Given the description of an element on the screen output the (x, y) to click on. 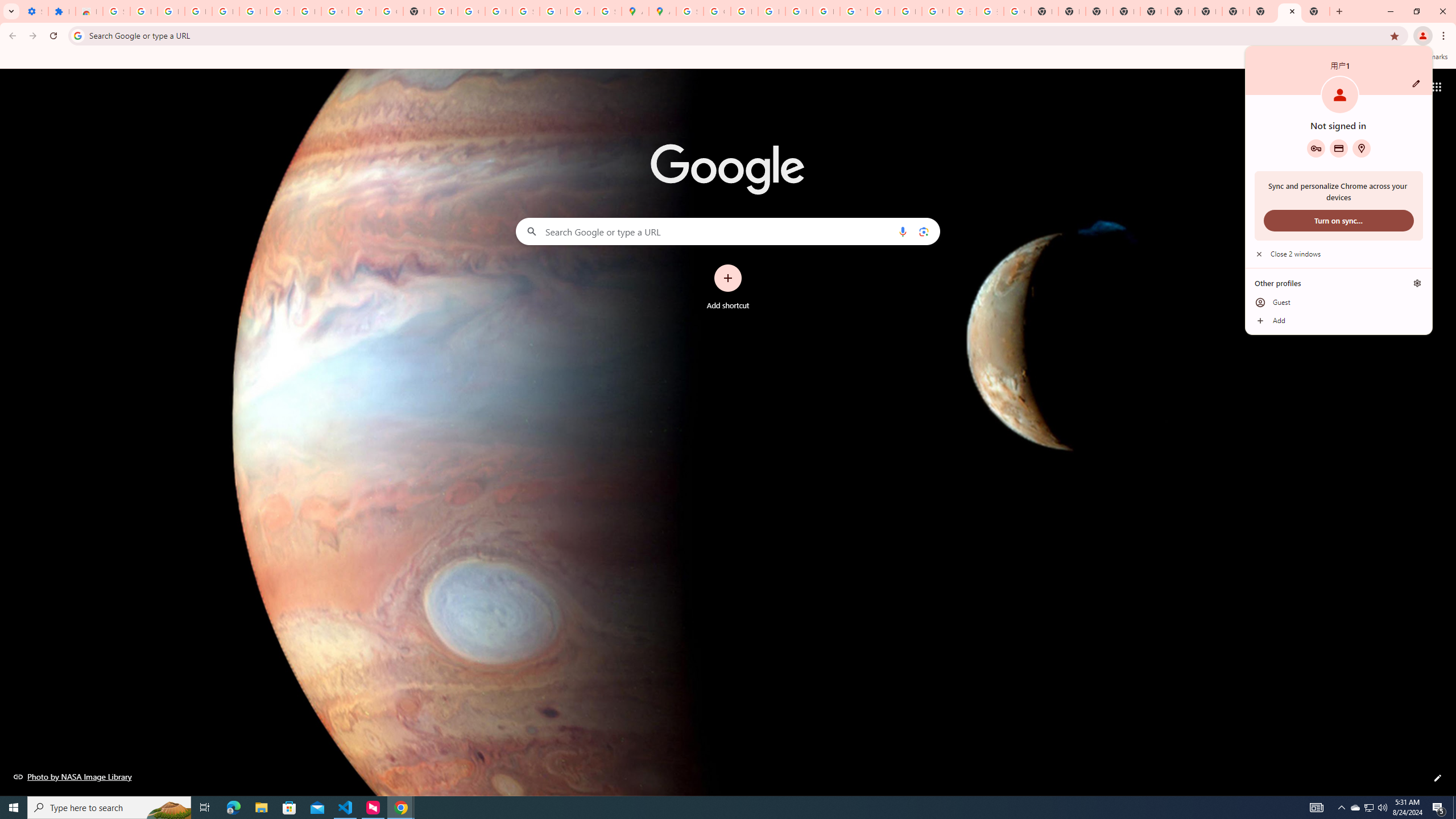
Add (1338, 321)
User Promoted Notification Area (1368, 807)
Addresses and more (1361, 148)
YouTube (853, 11)
Add shortcut (727, 287)
Bookmark this tab (1393, 35)
Reload (52, 35)
Close 2 windows (1338, 253)
Search icon (77, 35)
Close (1292, 11)
Task View (204, 807)
New Tab (1316, 11)
Google Chrome - 2 running windows (400, 807)
